Given the description of an element on the screen output the (x, y) to click on. 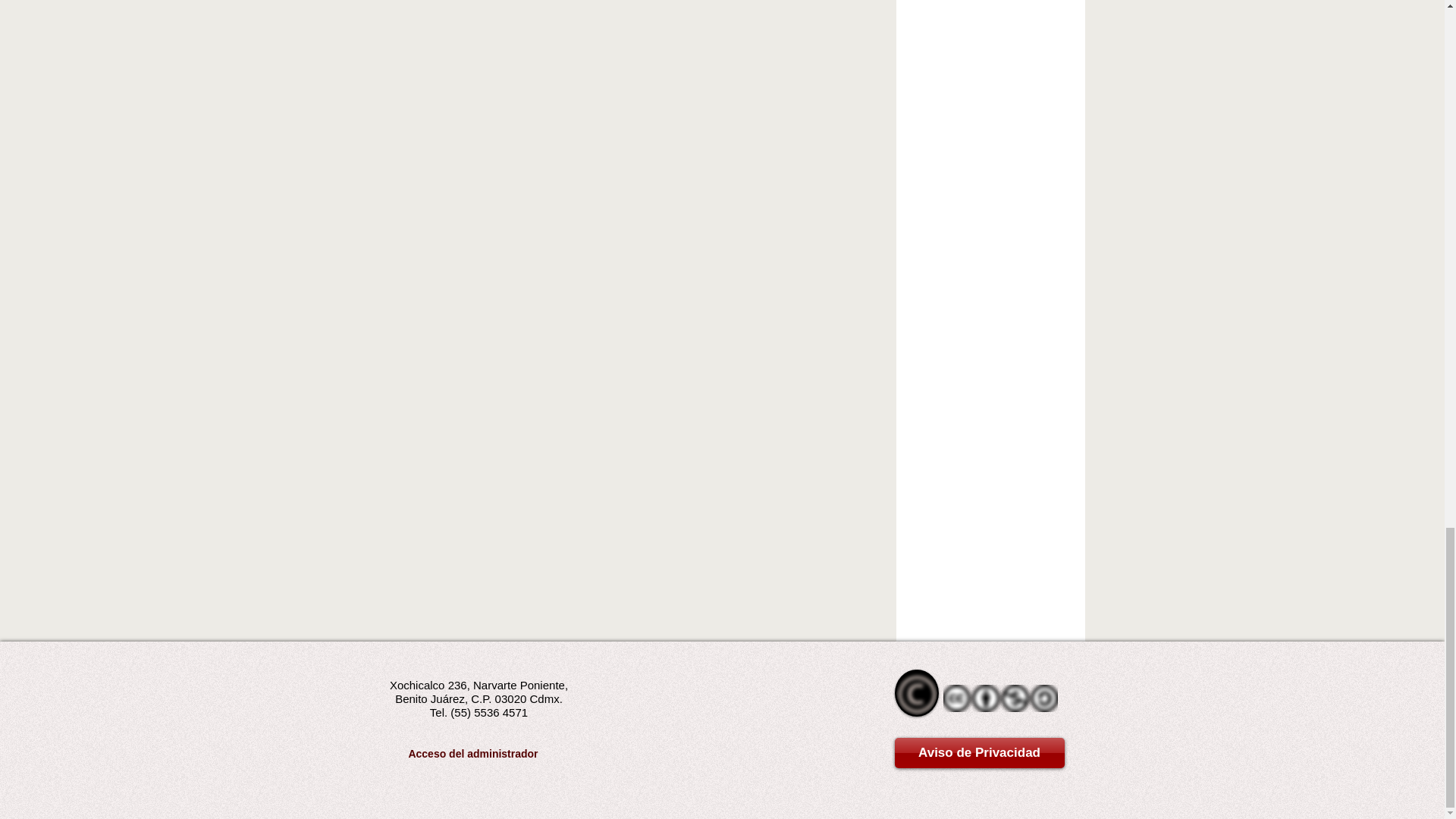
5536 4571 (500, 712)
Xochicalco 236 (428, 684)
Acceso del administrador (472, 753)
Aviso de Privacidad (979, 752)
licenciacc.png (1000, 697)
